Given the description of an element on the screen output the (x, y) to click on. 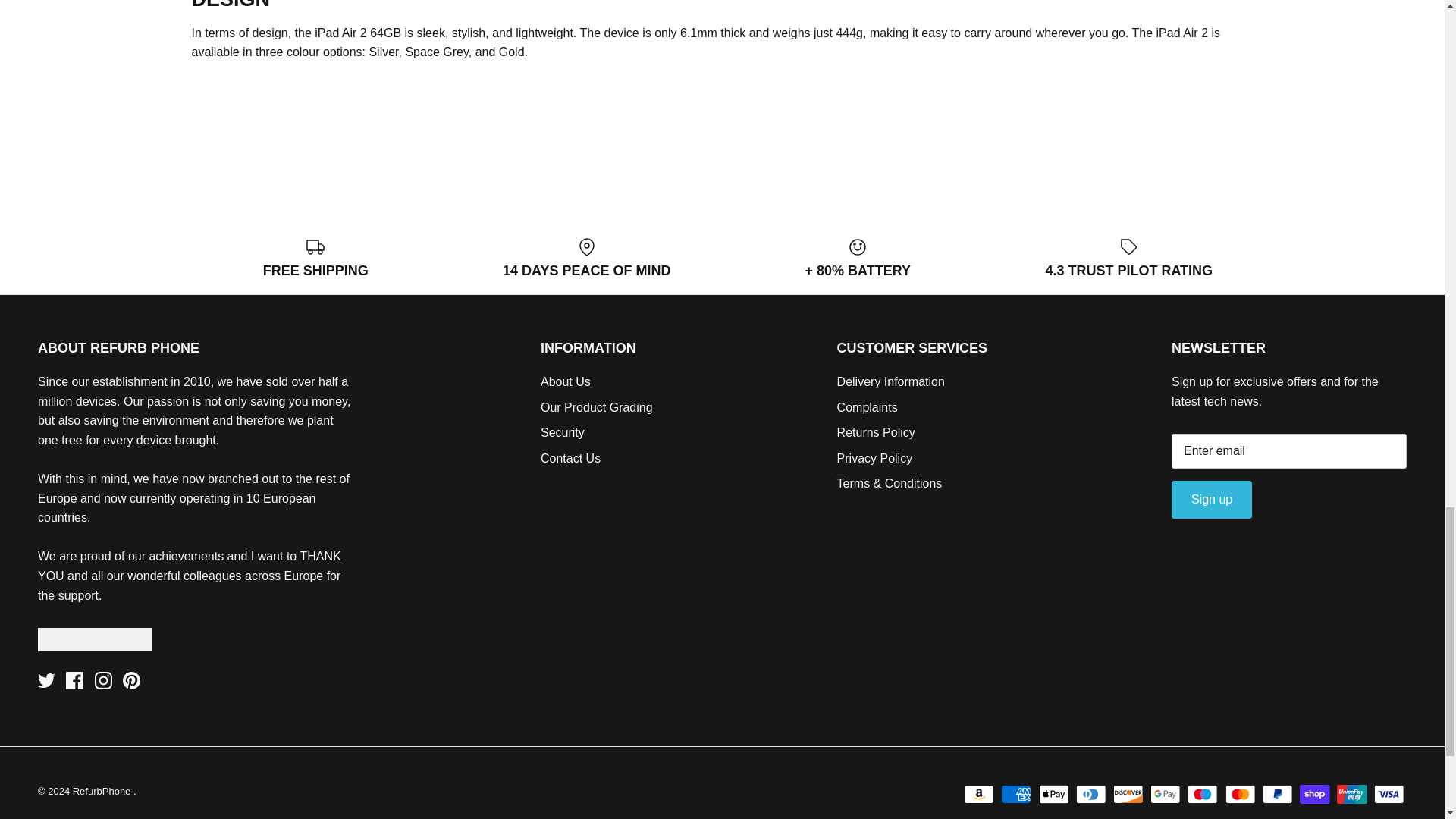
Discover (1127, 793)
Twitter (46, 680)
American Express (1015, 793)
Amazon (978, 793)
Facebook (73, 680)
Instagram (103, 680)
Label (1128, 247)
Diners Club (1090, 793)
Apple Pay (1053, 793)
Pinterest (130, 680)
